Given the description of an element on the screen output the (x, y) to click on. 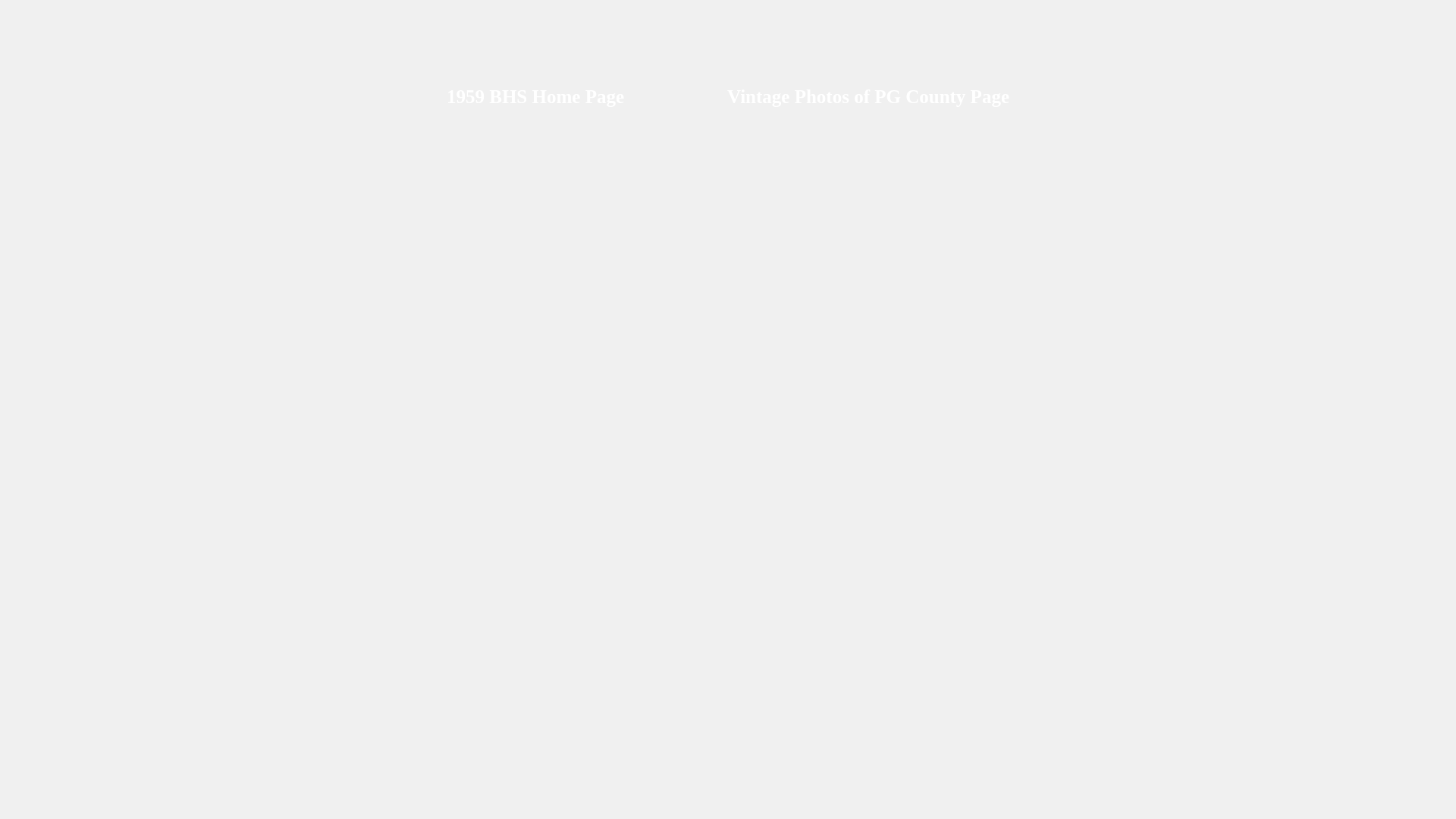
1959 BHS Home Page Element type: text (535, 98)
Vintage Photos of PG County Page Element type: text (868, 98)
